Given the description of an element on the screen output the (x, y) to click on. 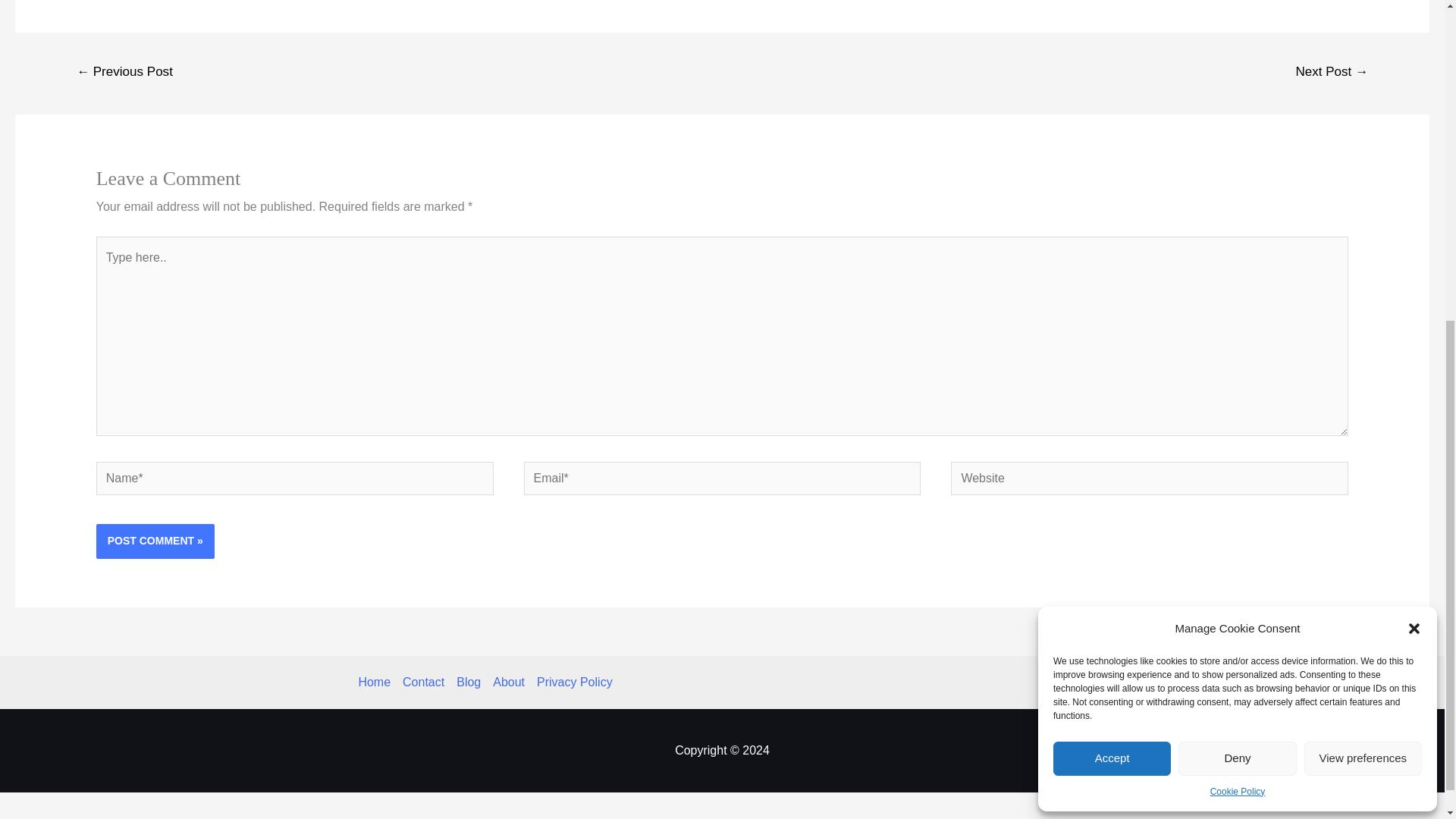
Cookie Policy (1237, 251)
Deny (1236, 218)
Accept (1111, 218)
View preferences (1363, 218)
